Given the description of an element on the screen output the (x, y) to click on. 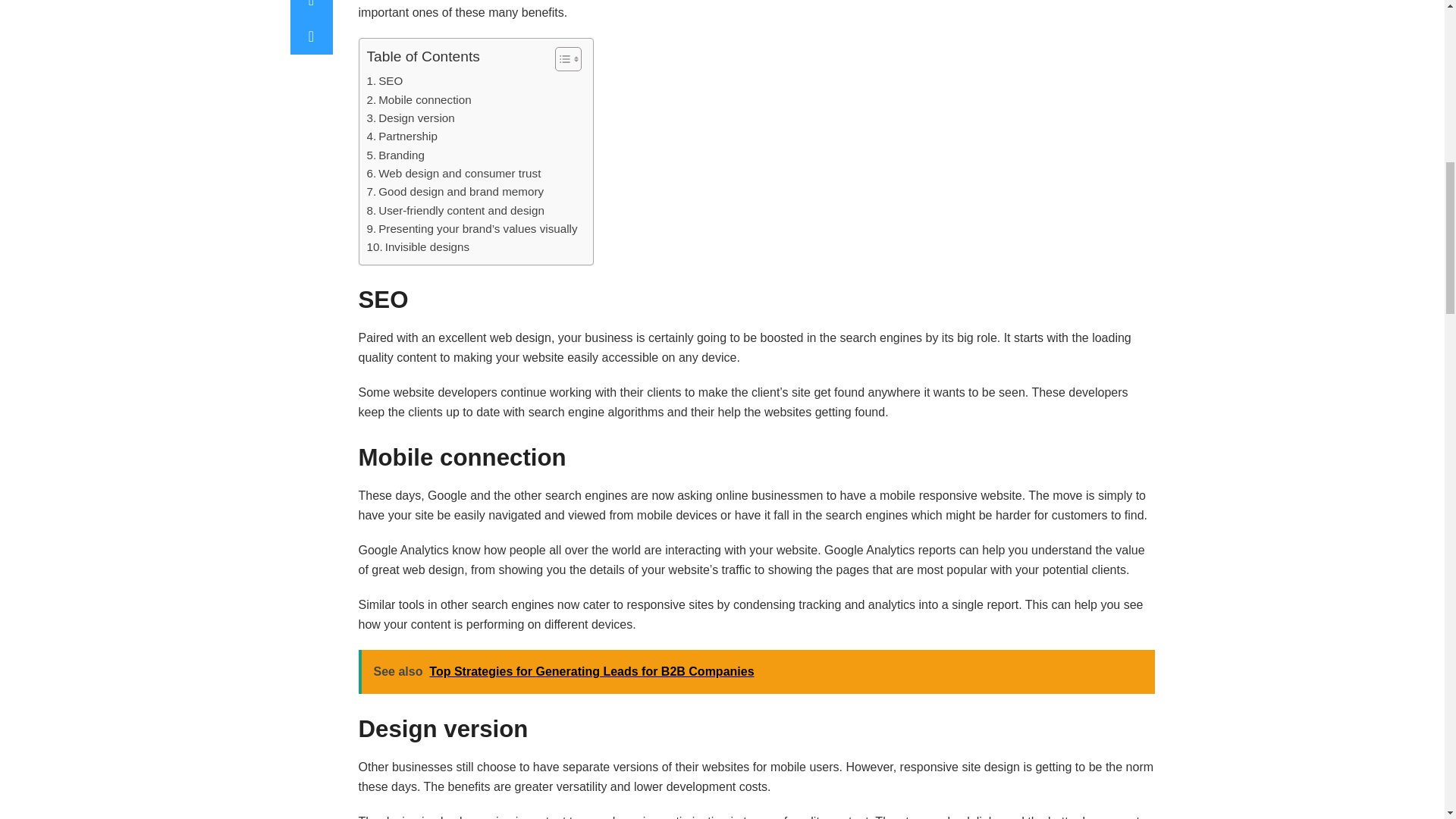
SEO (384, 81)
User-friendly content and design (455, 210)
Mobile connection (418, 99)
Web design and consumer trust (453, 173)
Design version  (410, 117)
Good design and brand memory (455, 191)
SEO (384, 81)
Invisible designs (418, 247)
Partnership  (402, 136)
Branding (395, 155)
